Given the description of an element on the screen output the (x, y) to click on. 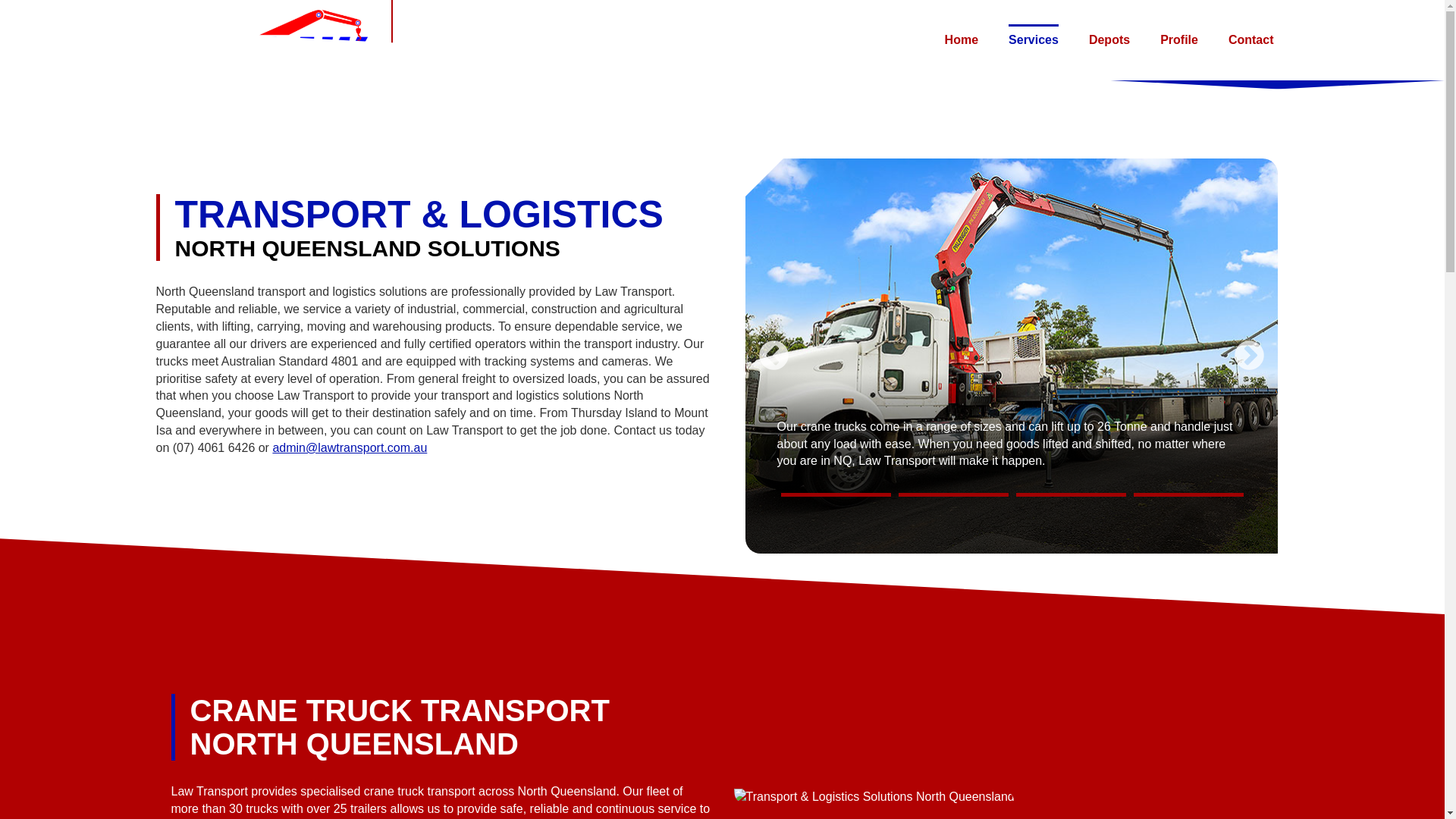
Depots Element type: text (1108, 40)
admin@lawtransport.com.au Element type: text (349, 388)
Services Element type: text (1033, 40)
Previous Element type: text (773, 271)
Profile Element type: text (1179, 40)
Next Element type: text (1248, 271)
Home Element type: text (961, 40)
Contact Element type: text (1251, 40)
